Given the description of an element on the screen output the (x, y) to click on. 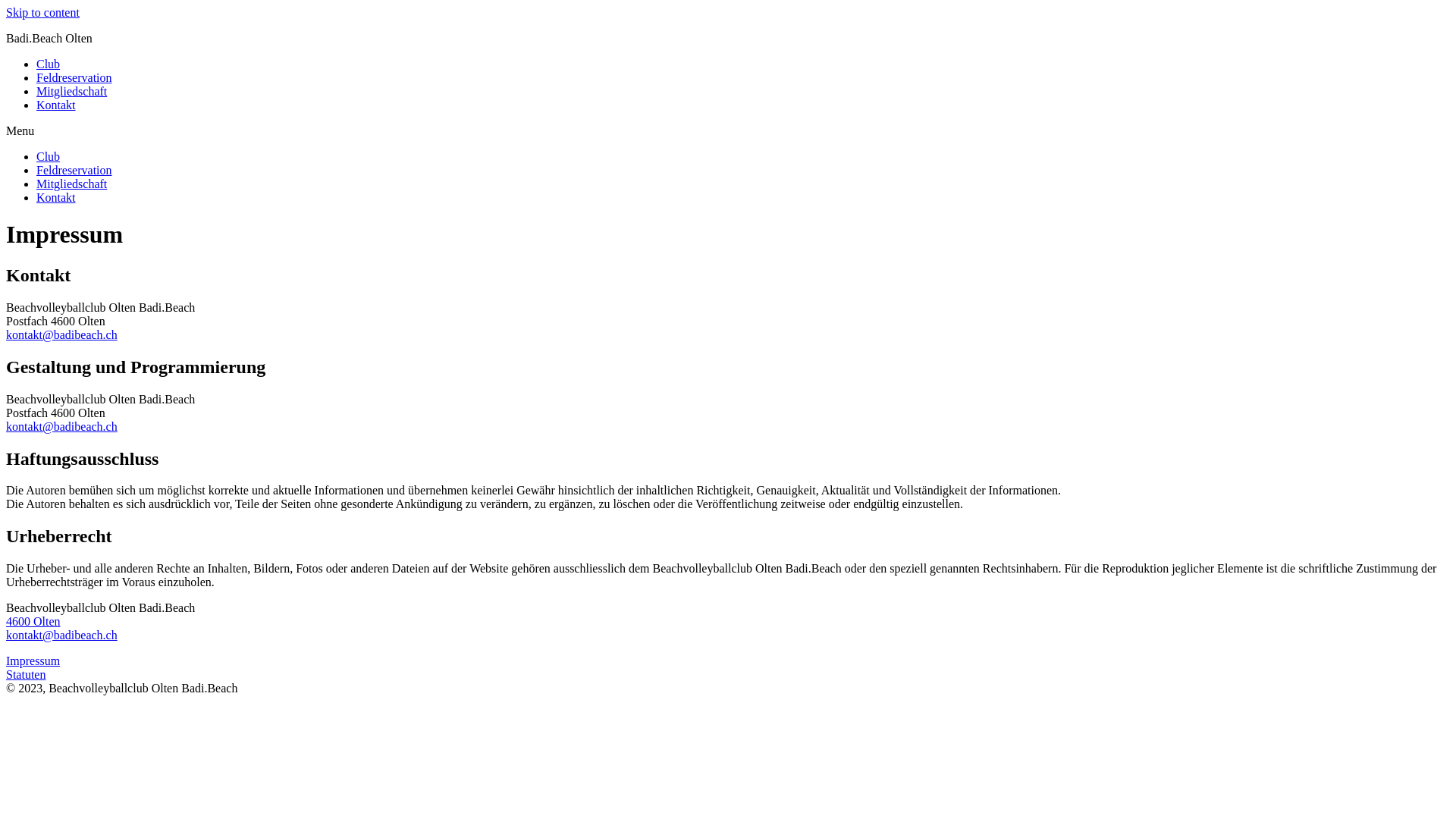
Impressum Element type: text (32, 660)
Kontakt Element type: text (55, 197)
Statuten Element type: text (25, 674)
Club Element type: text (47, 156)
Feldreservation Element type: text (74, 77)
Kontakt Element type: text (55, 104)
kontakt@badibeach.ch Element type: text (61, 634)
kontakt@badibeach.ch Element type: text (61, 334)
Mitgliedschaft Element type: text (71, 183)
Skip to content Element type: text (42, 12)
Club Element type: text (47, 63)
Feldreservation Element type: text (74, 169)
Mitgliedschaft Element type: text (71, 90)
kontakt@badibeach.ch Element type: text (61, 426)
4600 Olten Element type: text (33, 621)
